Given the description of an element on the screen output the (x, y) to click on. 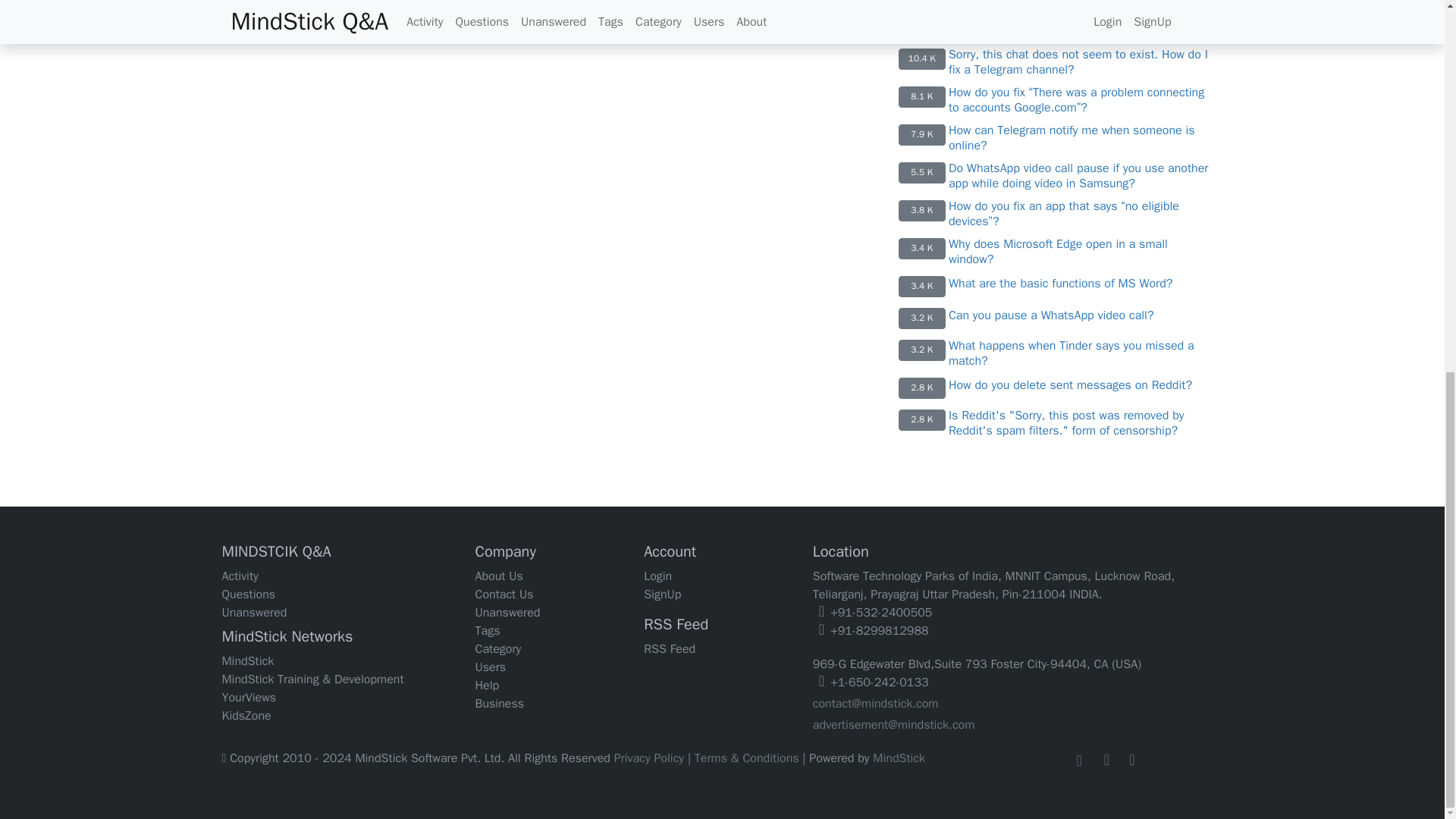
Add comment (325, 1)
Report Abuse (374, 1)
Add a comment on this answer (325, 1)
